Given the description of an element on the screen output the (x, y) to click on. 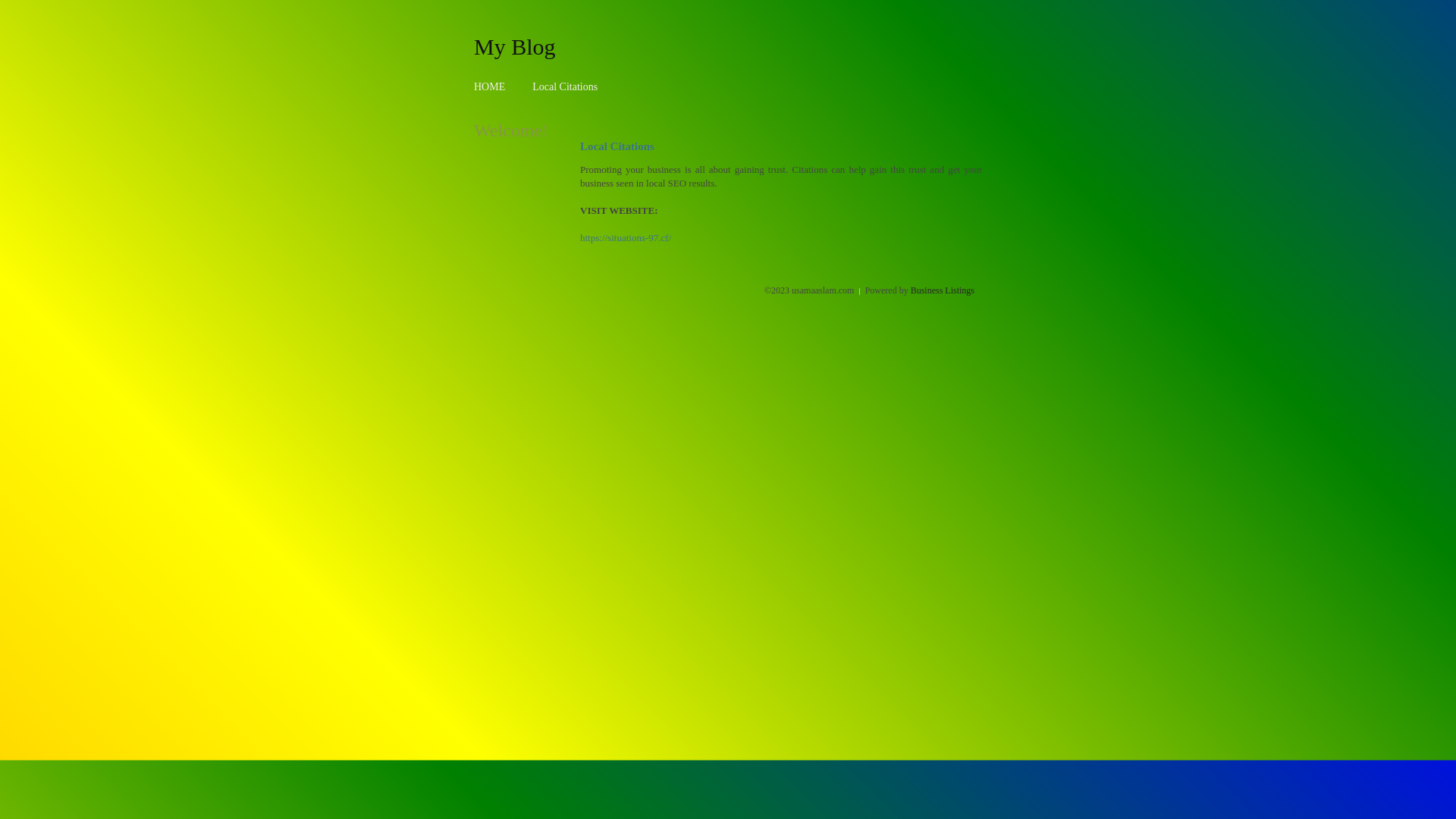
HOME Element type: text (489, 86)
https://situations-97.cf/ Element type: text (625, 237)
My Blog Element type: text (514, 46)
Local Citations Element type: text (564, 86)
Business Listings Element type: text (942, 290)
